Given the description of an element on the screen output the (x, y) to click on. 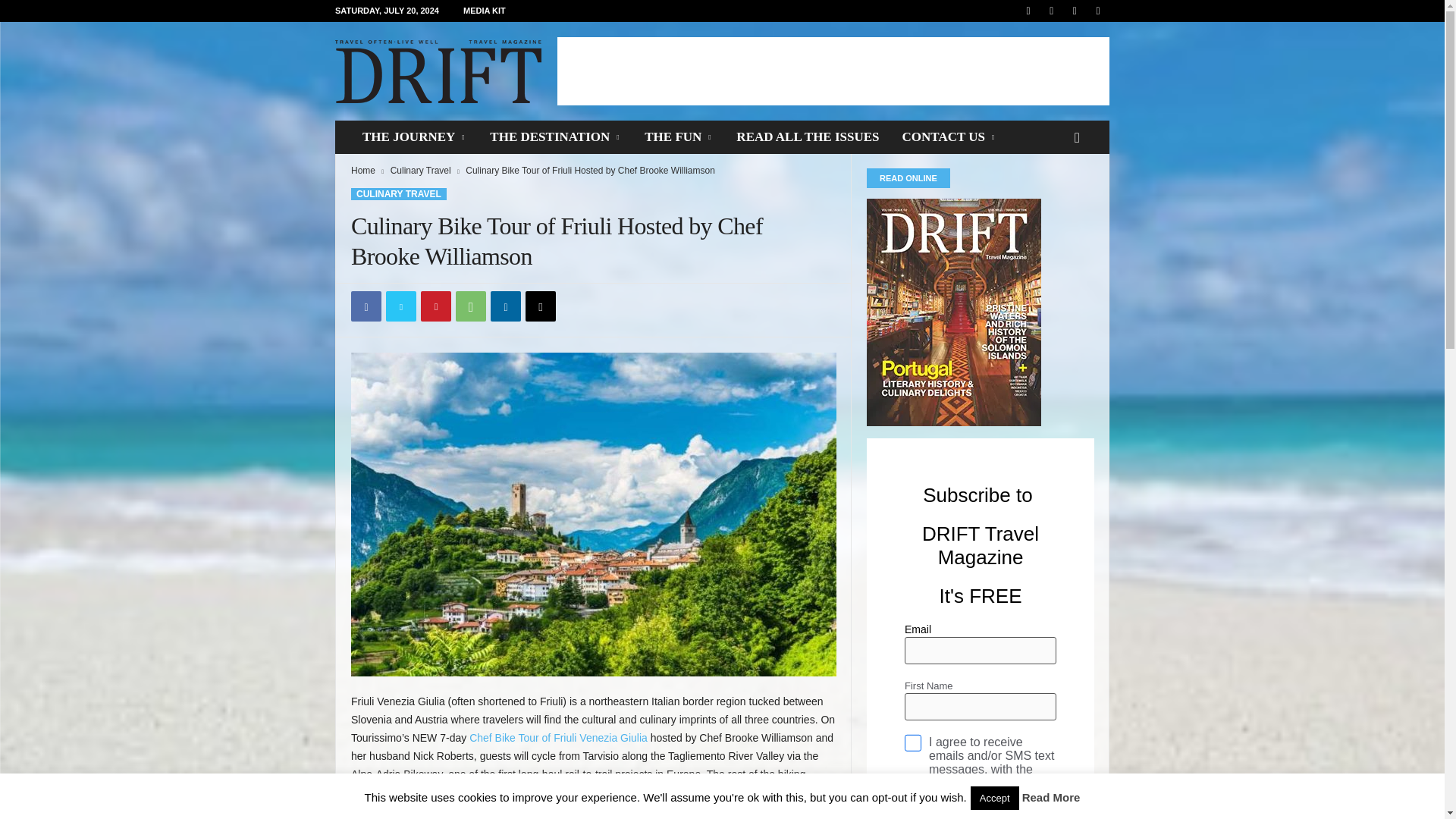
Advertisement (833, 70)
Twitter (400, 306)
Pinterest (435, 306)
WhatsApp (470, 306)
Linkedin (505, 306)
Facebook (365, 306)
Email (540, 306)
View all posts in Culinary Travel (420, 170)
